Given the description of an element on the screen output the (x, y) to click on. 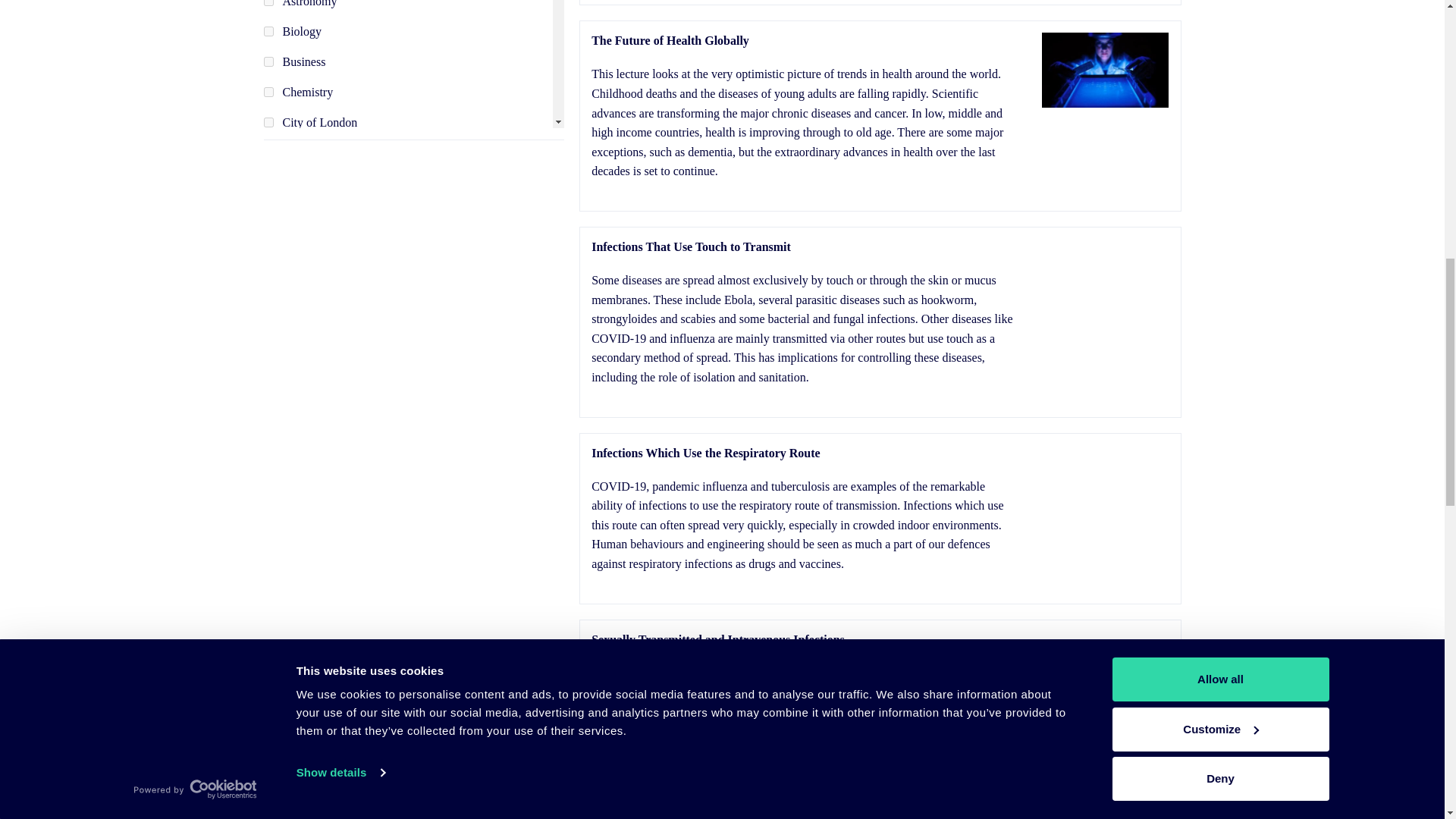
on (268, 91)
on (268, 122)
on (268, 213)
on (268, 31)
on (268, 183)
on (268, 61)
on (268, 2)
on (268, 153)
